Given the description of an element on the screen output the (x, y) to click on. 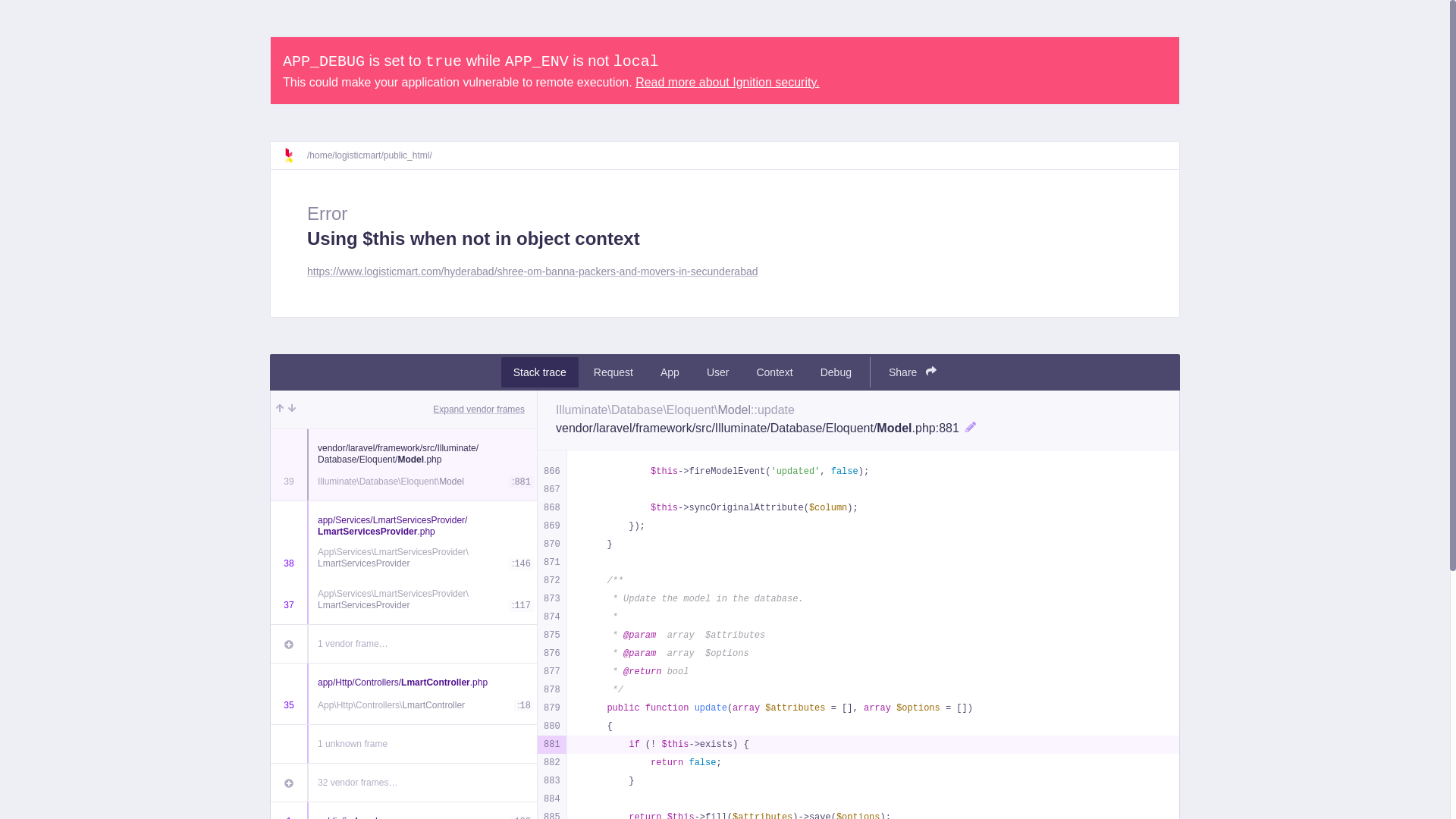
Stack trace (539, 372)
User (717, 372)
Expand vendor frames (478, 409)
Request (612, 372)
App (669, 372)
Context (774, 372)
Ignition docs (294, 155)
Debug (835, 372)
Read more about Ignition security. (726, 82)
Share (912, 372)
